Given the description of an element on the screen output the (x, y) to click on. 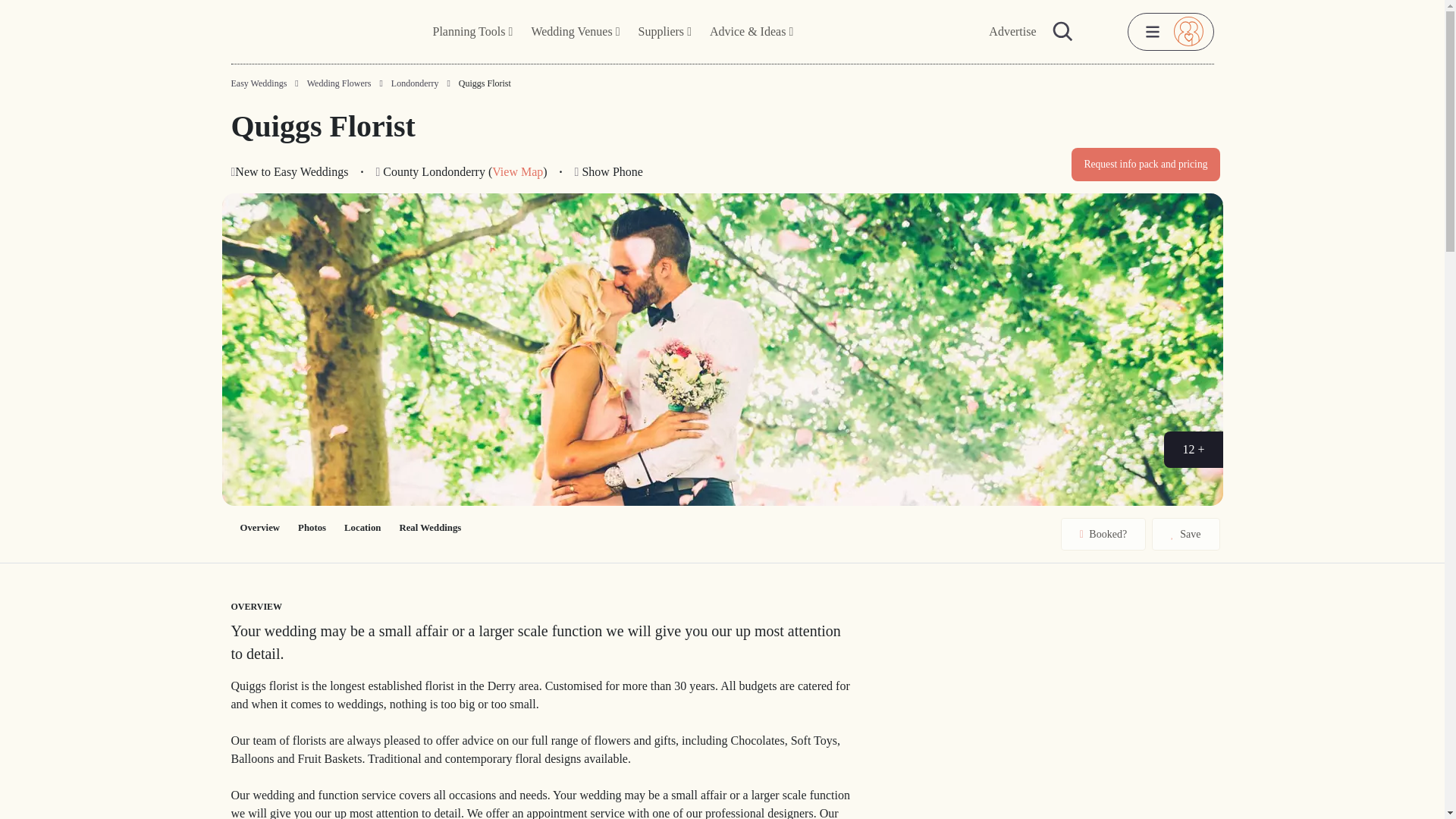
Overview (259, 528)
Photos (311, 528)
View Map (517, 171)
Londonderry (415, 82)
Wedding Flowers (339, 83)
Request info pack and pricing (1145, 164)
Advertise (1012, 31)
Planning Tools (472, 31)
Save (1185, 533)
Suppliers (664, 31)
